Given the description of an element on the screen output the (x, y) to click on. 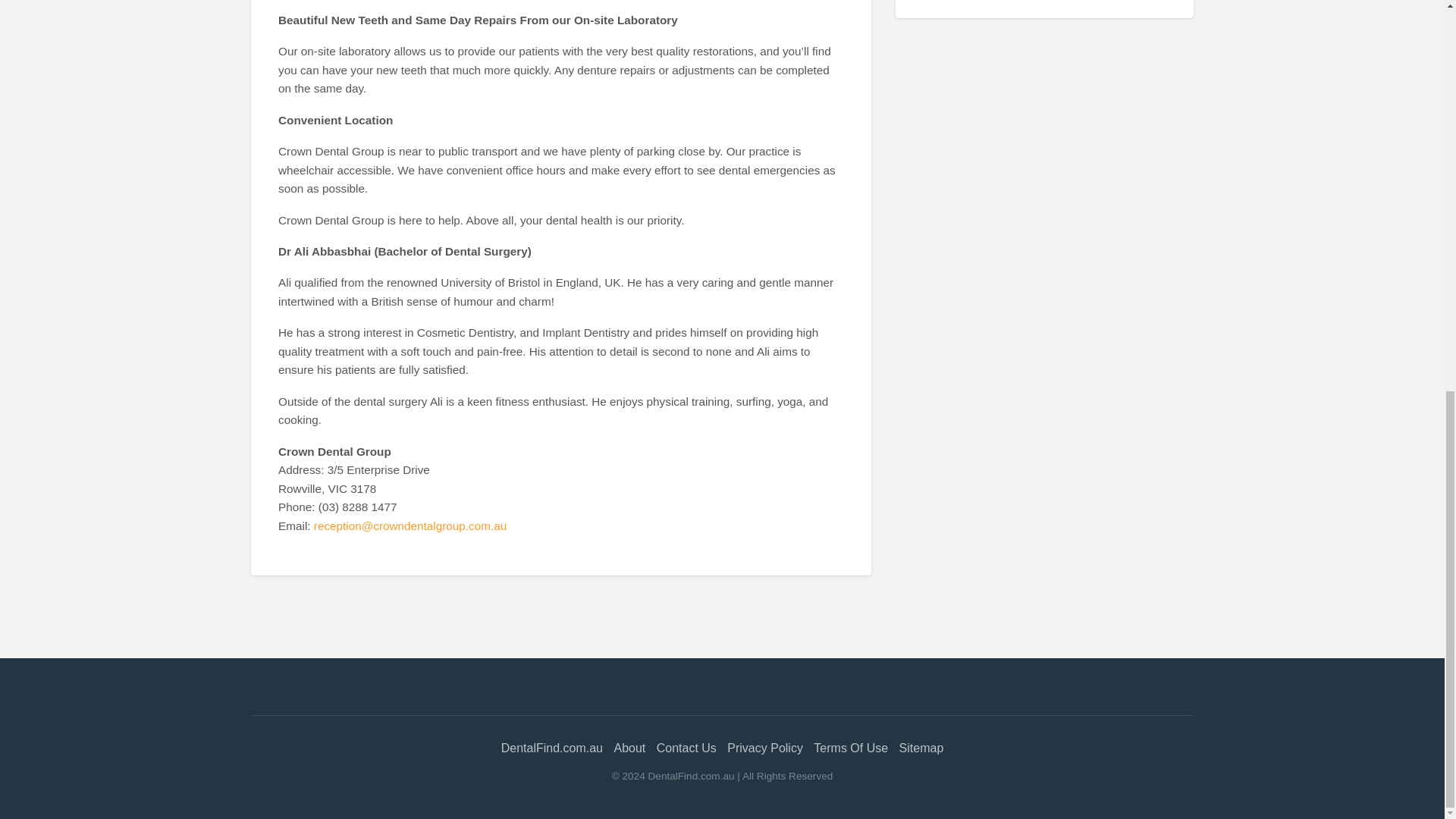
Sitemap (921, 748)
Privacy Policy (764, 748)
Terms Of Use (850, 748)
Contact Us (686, 748)
About (628, 748)
DentalFind.com.au (551, 748)
